Given the description of an element on the screen output the (x, y) to click on. 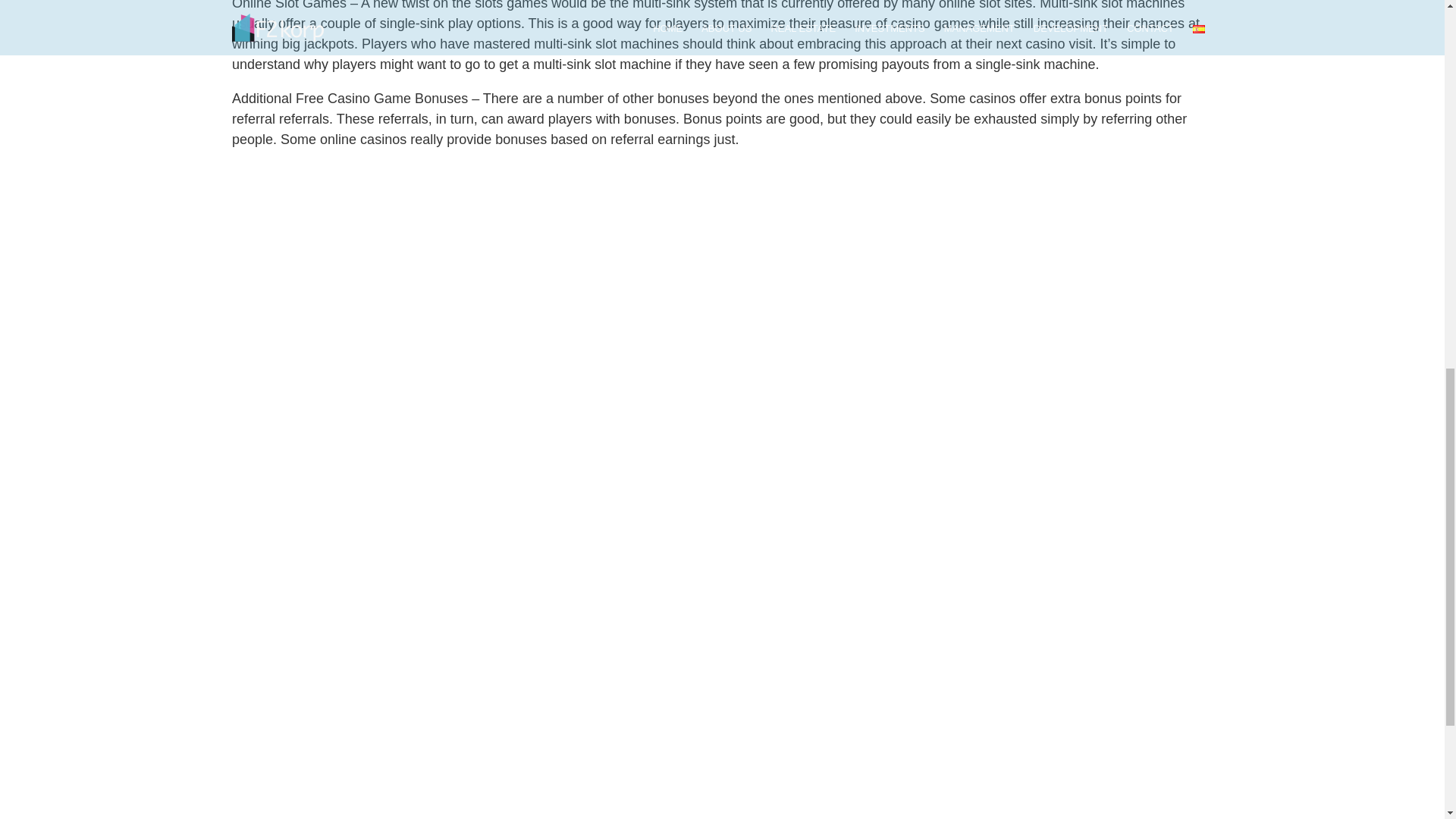
SUBMIT (1022, 742)
